Given the description of an element on the screen output the (x, y) to click on. 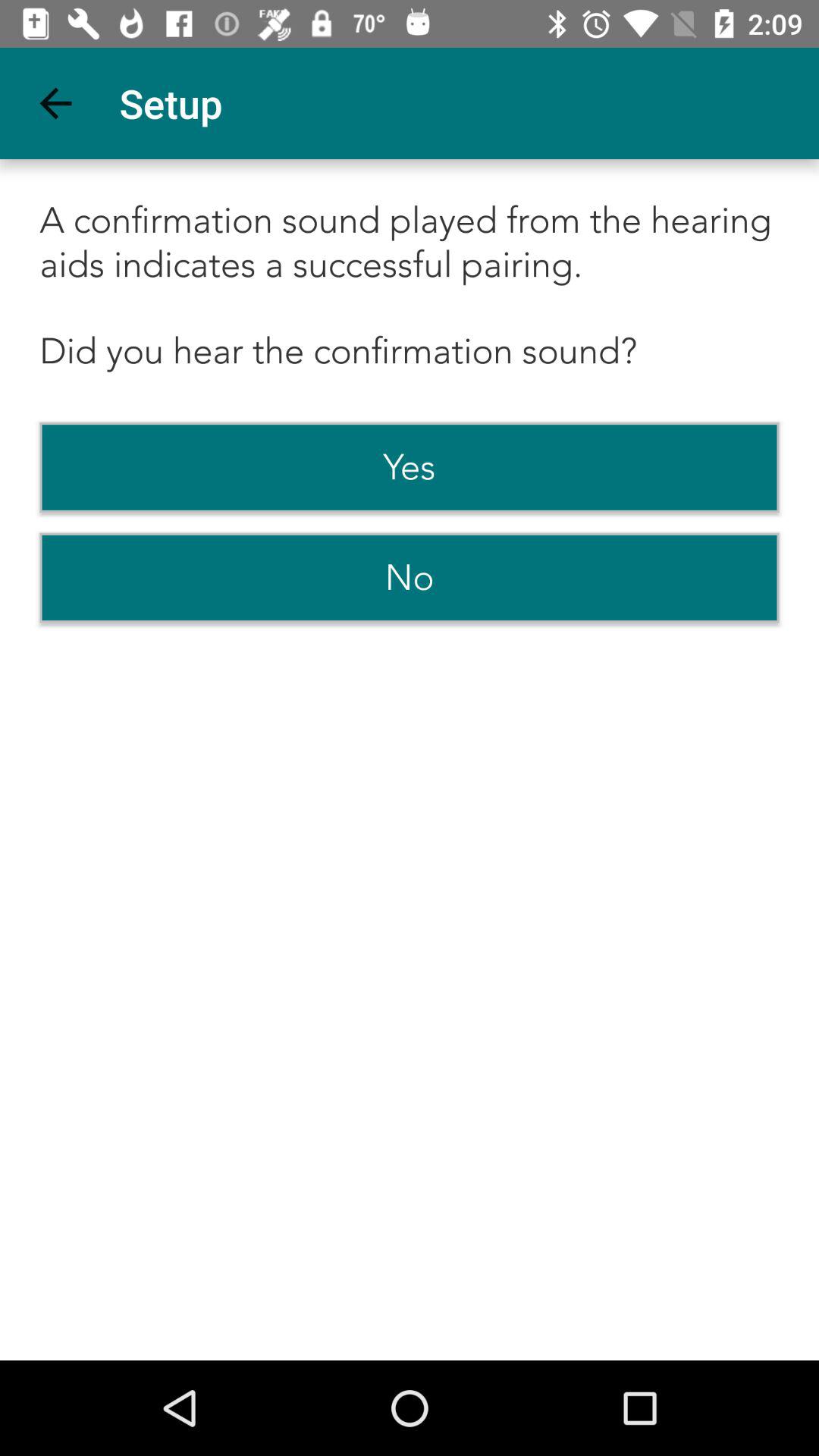
open item next to setup item (55, 103)
